Given the description of an element on the screen output the (x, y) to click on. 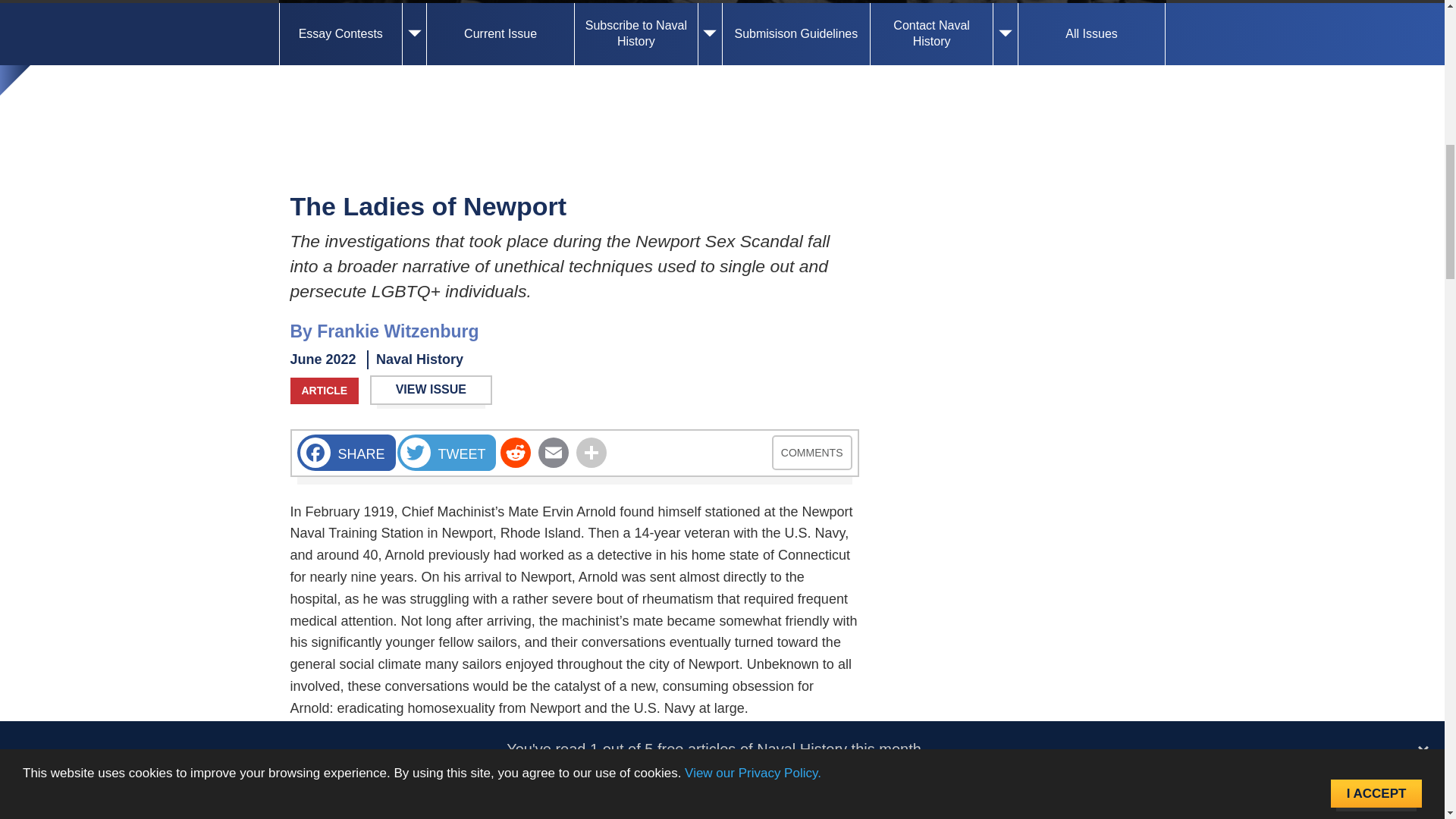
Submit to Naval History (795, 34)
3rd party ad content (721, 108)
View our Privacy Policy. (752, 17)
I ACCEPT (1376, 13)
3rd party ad content (1017, 282)
3rd party ad content (1017, 496)
3rd party ad content (1017, 710)
